Given the description of an element on the screen output the (x, y) to click on. 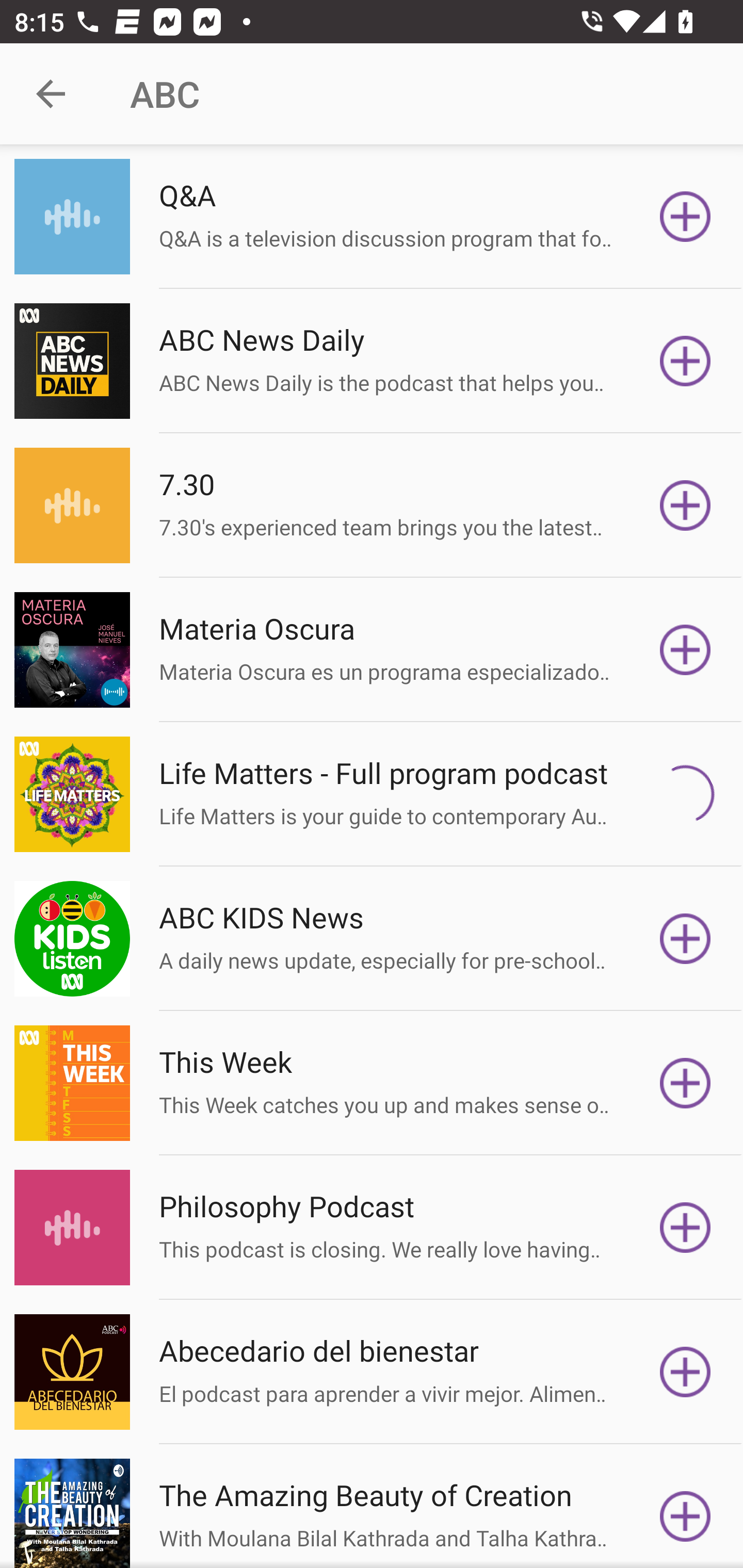
Navigate up (50, 93)
Subscribe (685, 216)
Subscribe (685, 360)
Subscribe (685, 505)
Subscribe (685, 649)
Subscribe (685, 793)
Subscribe (685, 939)
Subscribe (685, 1083)
Subscribe (685, 1227)
Subscribe (685, 1371)
Subscribe (685, 1513)
